Given the description of an element on the screen output the (x, y) to click on. 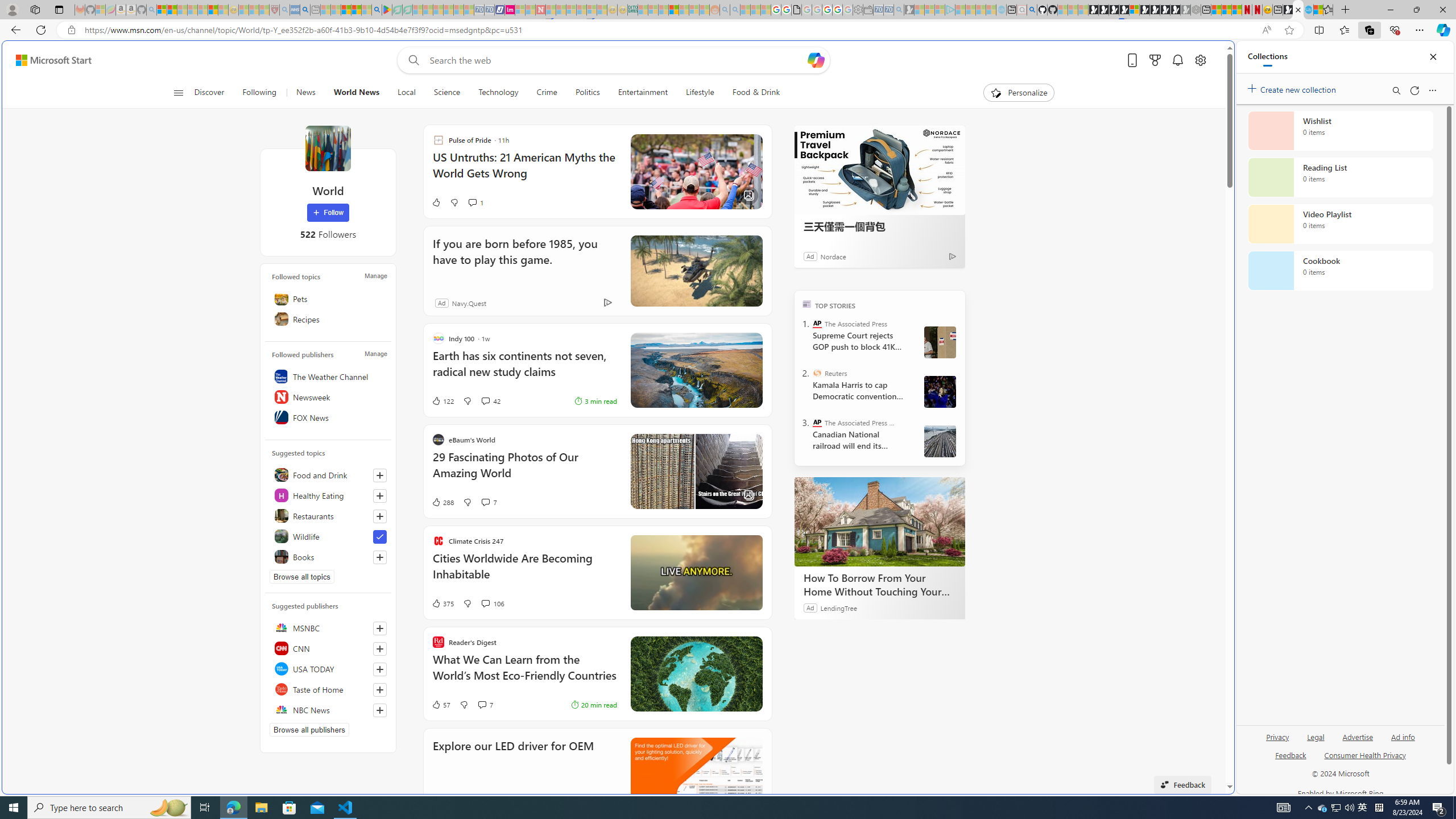
The Weather Channel (327, 376)
View comments 7 Comment (481, 704)
If you are born before 1985, you have to play this game. (696, 270)
